Given the description of an element on the screen output the (x, y) to click on. 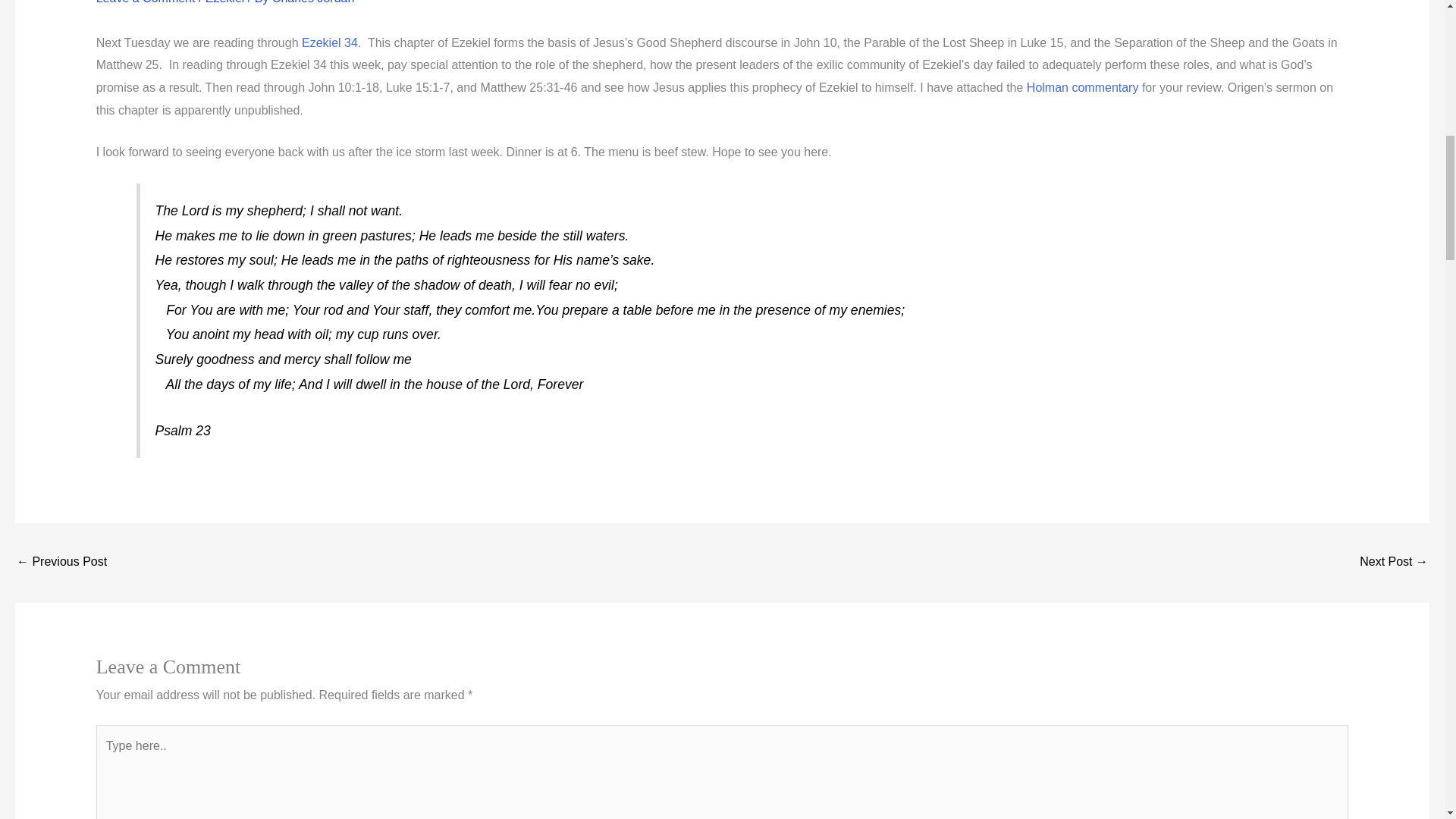
View all posts by Charles Jordan (313, 2)
Ezekiel 5 - Ezek. 26-28 (61, 562)
Ezekiel 7 - Ezek. 37, pt.1 (1393, 562)
